Given the description of an element on the screen output the (x, y) to click on. 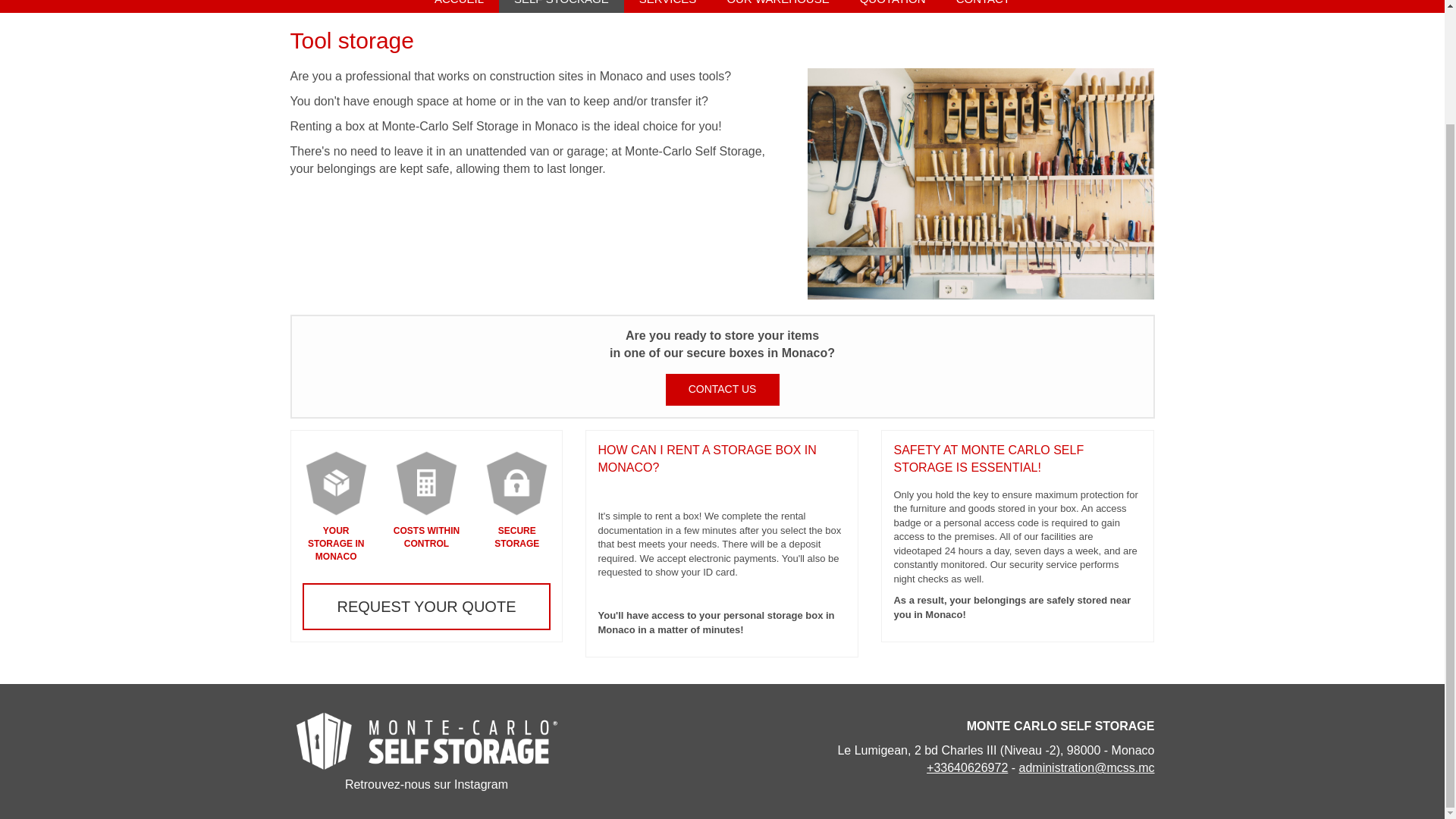
ACCUEIL (459, 6)
instagrm (426, 784)
SELF STOCKAGE (561, 6)
